Given the description of an element on the screen output the (x, y) to click on. 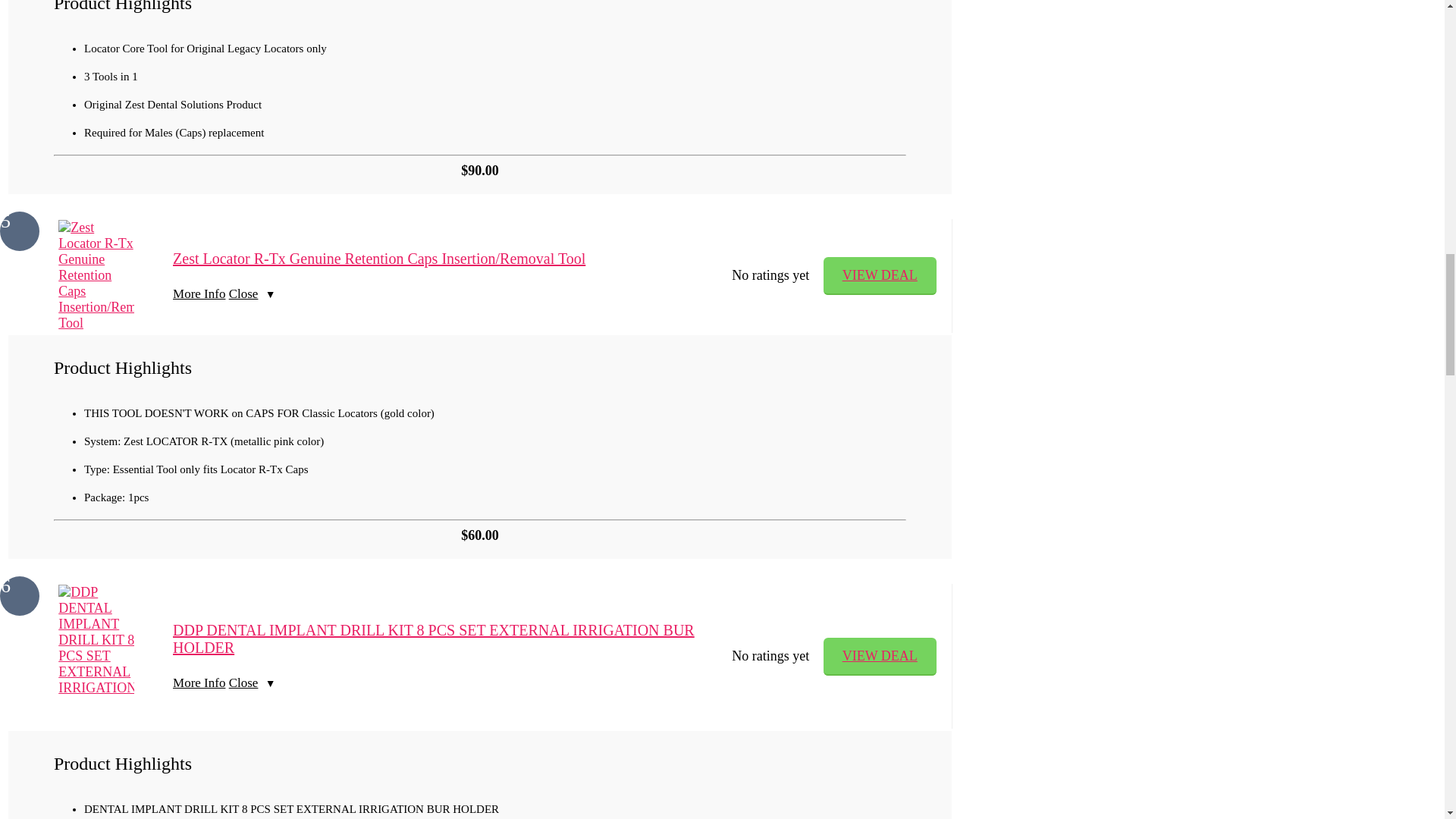
VIEW DEAL (880, 275)
VIEW DEAL (880, 656)
